Given the description of an element on the screen output the (x, y) to click on. 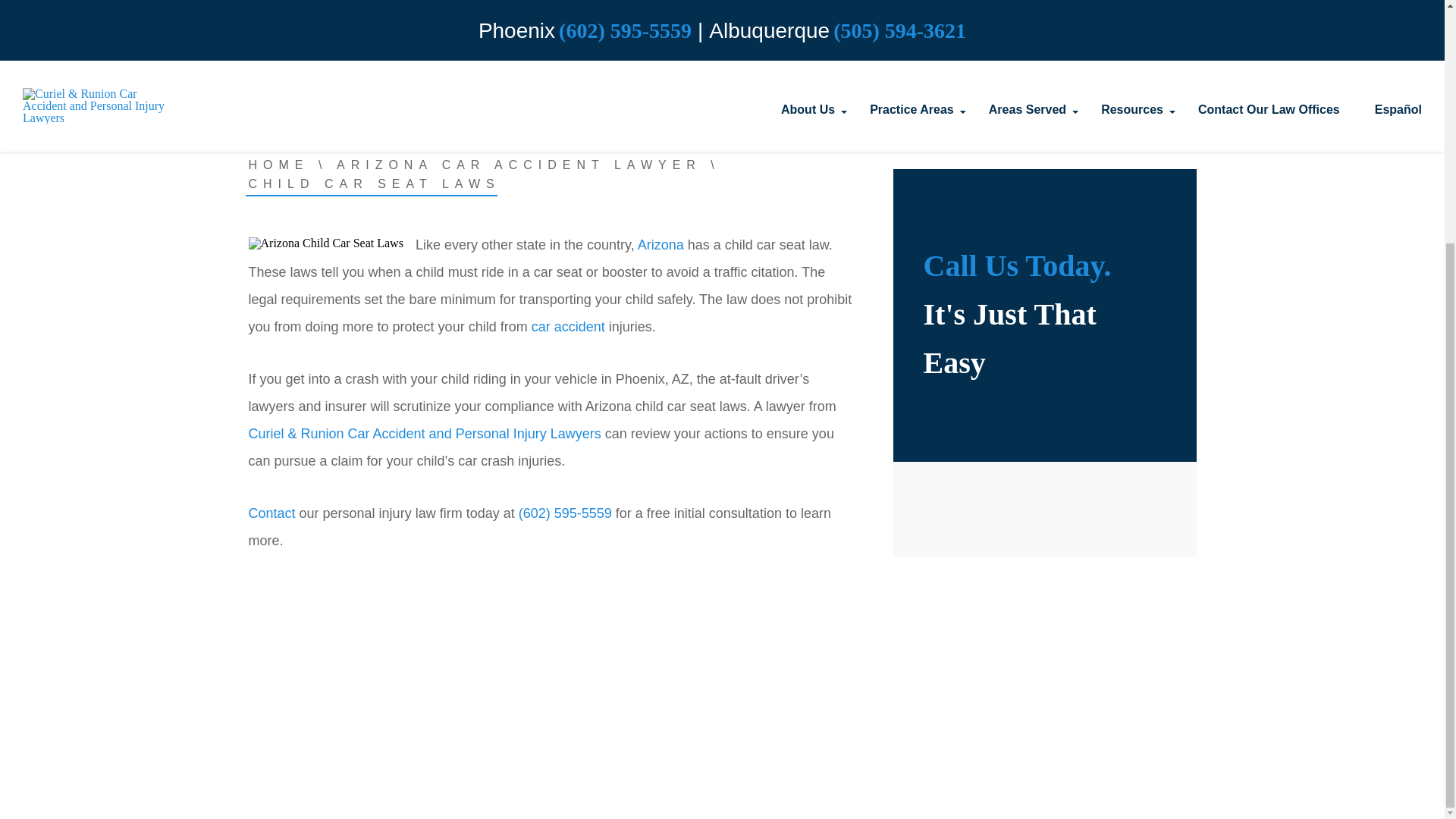
HOME (278, 164)
Arizona (660, 244)
car accident (569, 326)
Contact (271, 513)
CLICK FOR A FREE CASE REVIEW (722, 20)
ARIZONA CAR ACCIDENT LAWYER (518, 164)
CLICK FOR A FREE CASE REVIEW (722, 20)
